Given the description of an element on the screen output the (x, y) to click on. 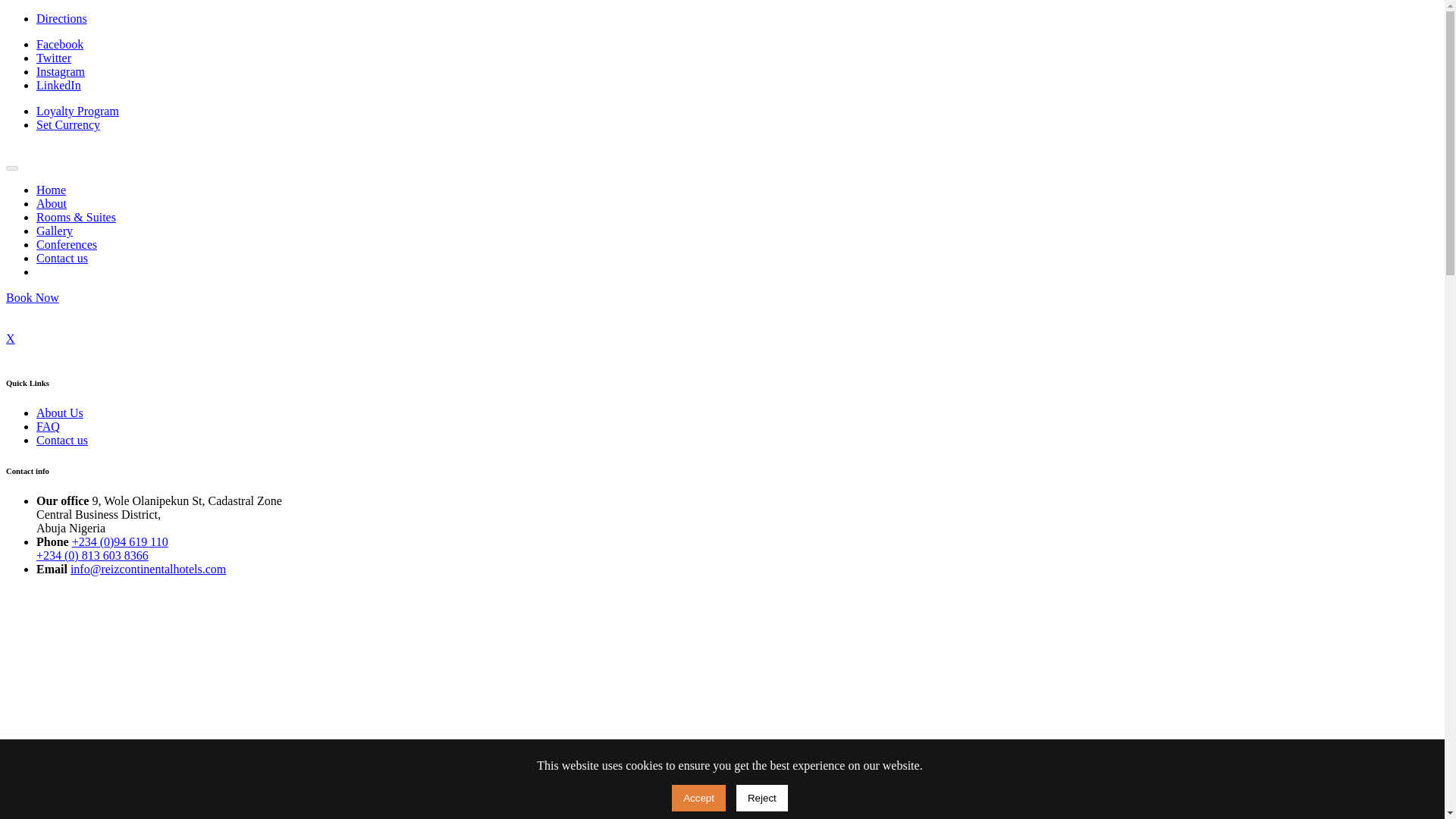
FAQ (47, 426)
Loyalty Program (77, 110)
Conferences (66, 244)
Instagram (60, 71)
Gallery (54, 230)
Set Currency (68, 124)
About Us (59, 412)
Twitter (53, 57)
Home (50, 189)
LinkedIn (58, 84)
